Given the description of an element on the screen output the (x, y) to click on. 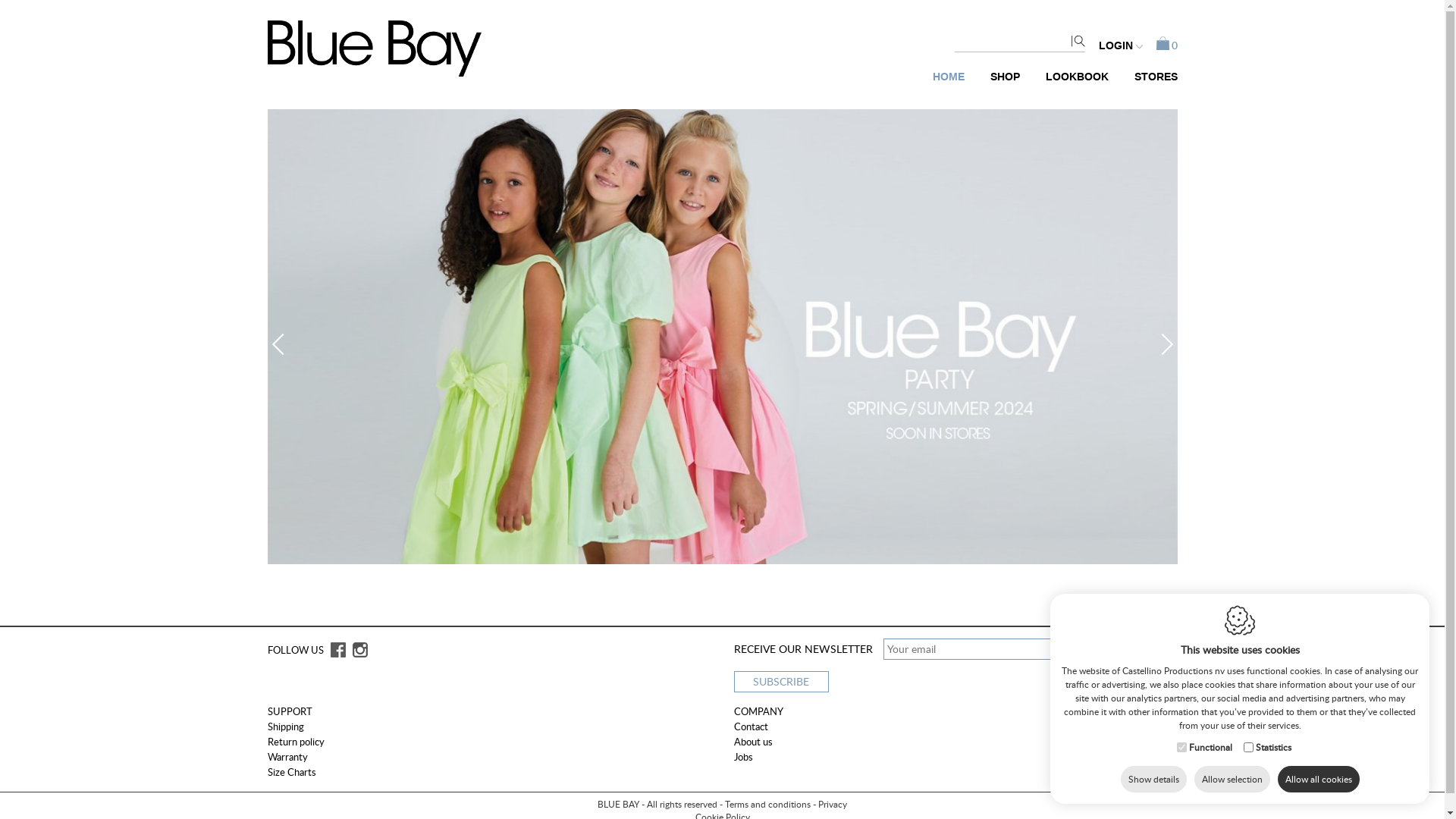
SHOP Element type: text (1004, 70)
About us Element type: text (753, 741)
Jobs Element type: text (743, 756)
Privacy Element type: text (832, 803)
0 Element type: text (1165, 44)
Show details Element type: text (1153, 778)
Warranty Element type: text (286, 756)
Size Charts Element type: text (290, 771)
Previous Element type: text (278, 340)
LOGIN Element type: text (1119, 45)
STORES Element type: text (1149, 70)
Contact Element type: text (751, 726)
Shipping Element type: text (284, 726)
Terms and conditions Element type: text (767, 803)
Next Element type: text (1158, 340)
HOME Element type: text (947, 70)
Ok Element type: text (1122, 160)
LOOKBOOK Element type: text (1077, 70)
Return policy Element type: text (294, 741)
Subscribe Element type: text (781, 681)
